Given the description of an element on the screen output the (x, y) to click on. 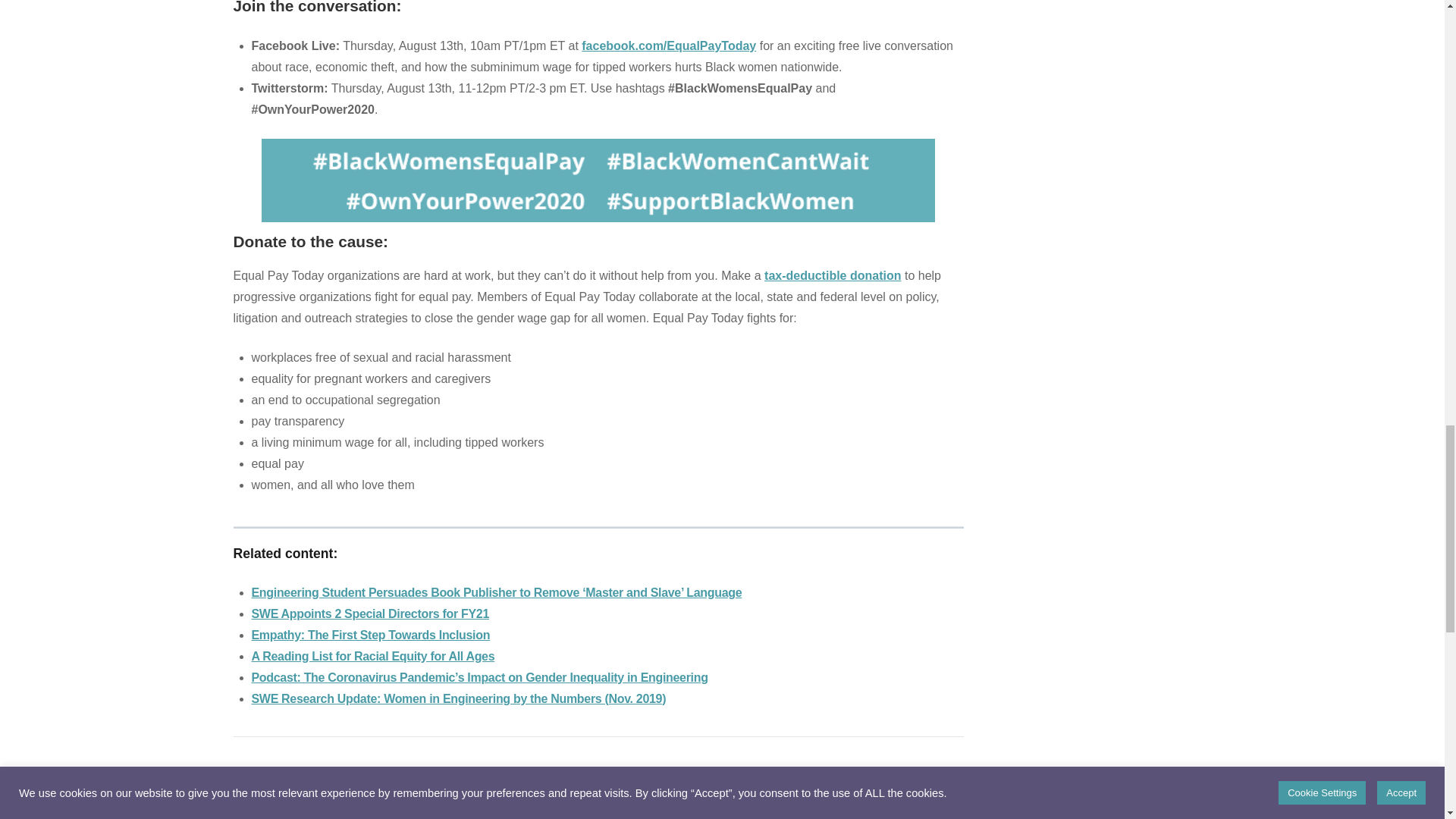
Demand Equal Pay for Black Women black women (263, 811)
SWE Blog (348, 812)
Demand Equal Pay For Black Women (598, 179)
